Given the description of an element on the screen output the (x, y) to click on. 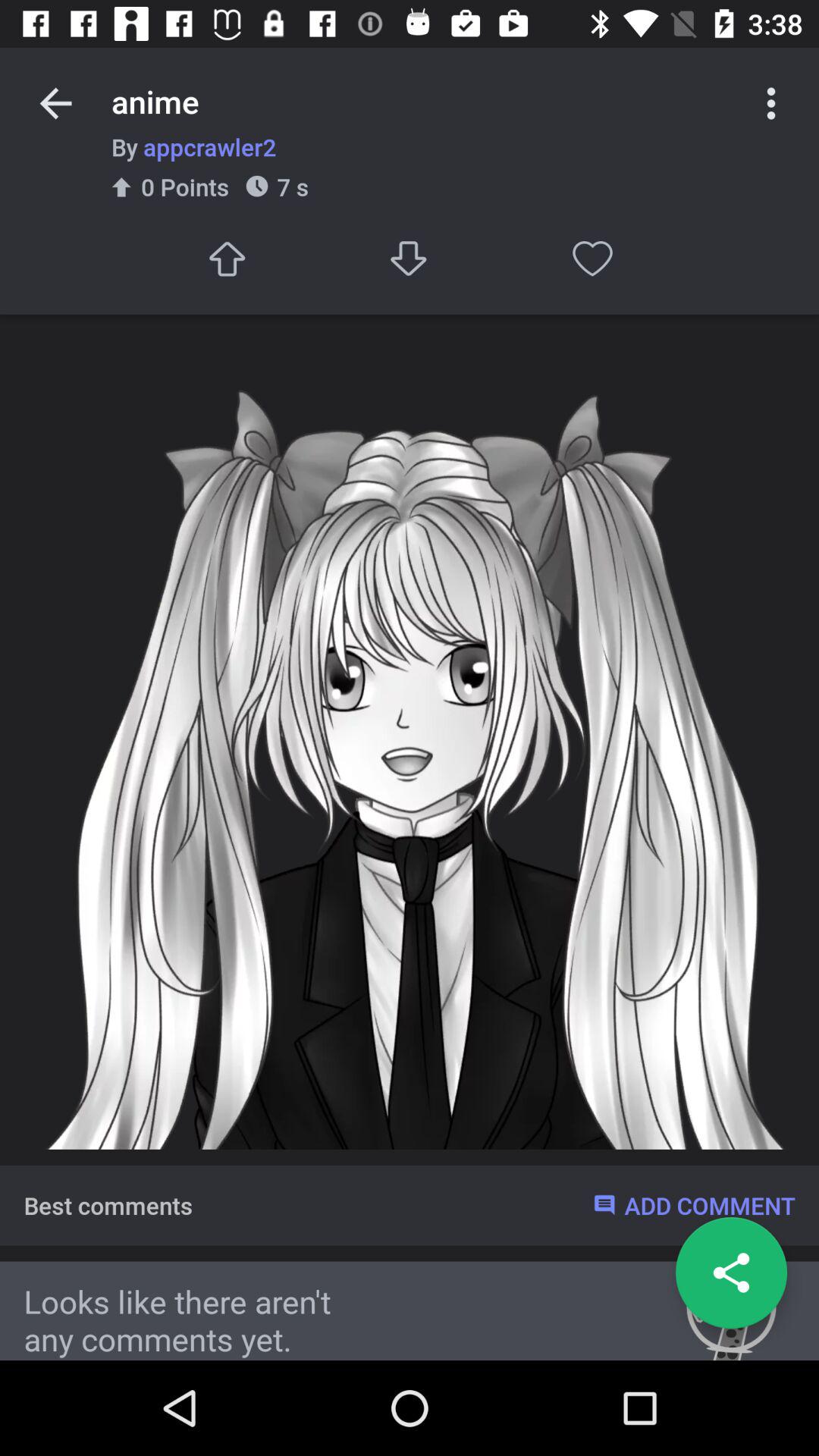
go back (55, 103)
